Given the description of an element on the screen output the (x, y) to click on. 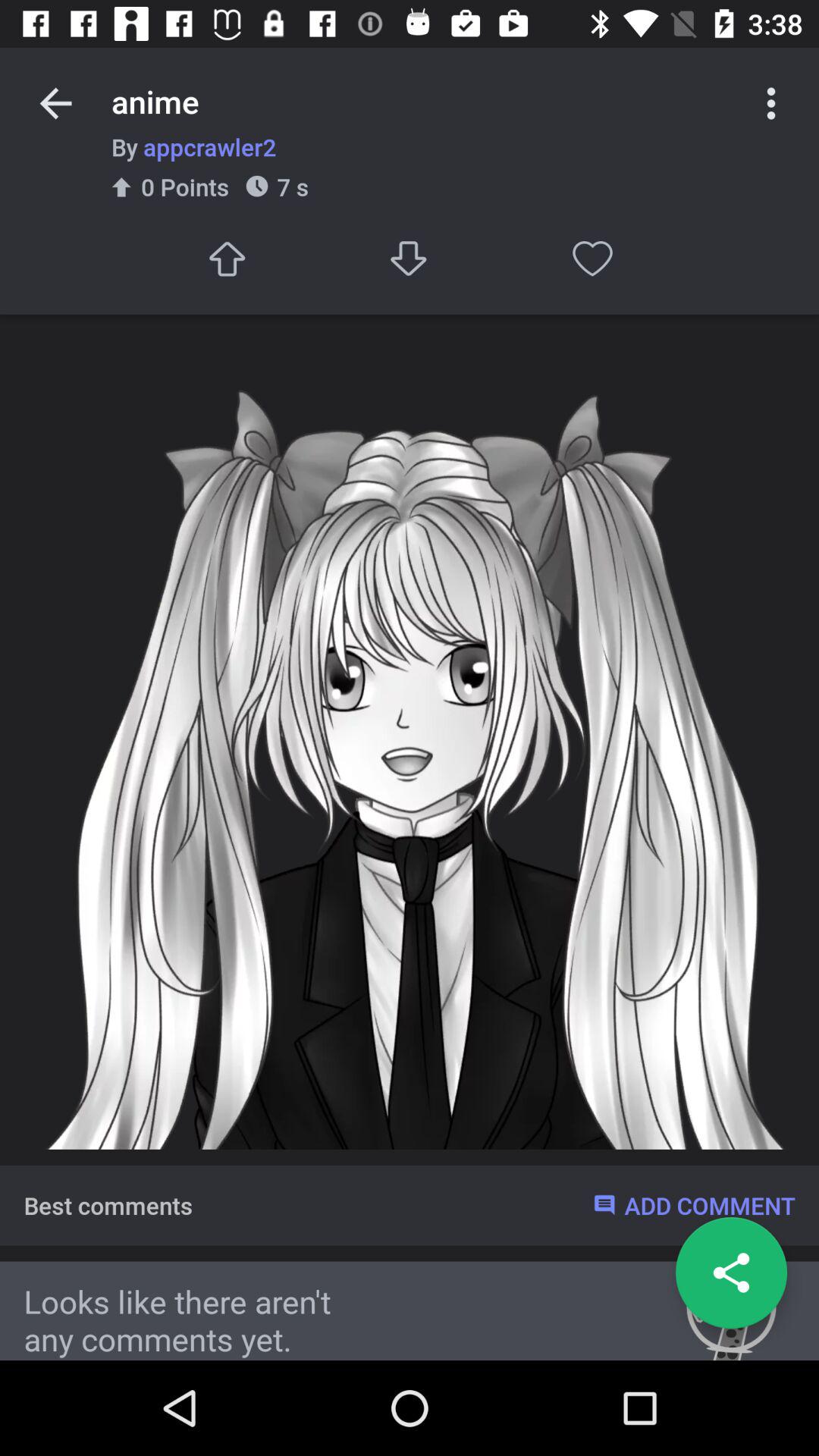
go back (55, 103)
